Given the description of an element on the screen output the (x, y) to click on. 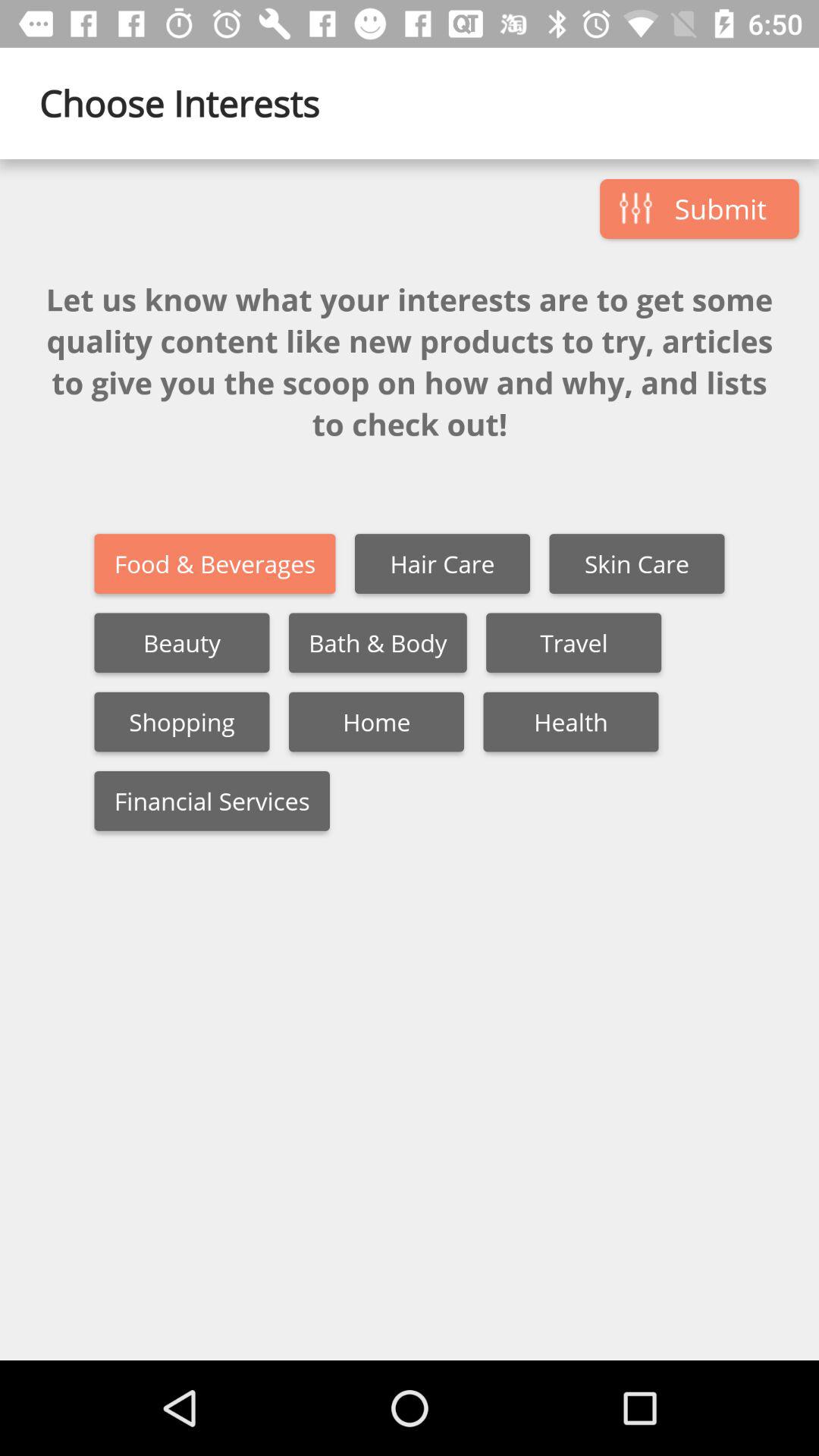
tap travel (573, 642)
